Given the description of an element on the screen output the (x, y) to click on. 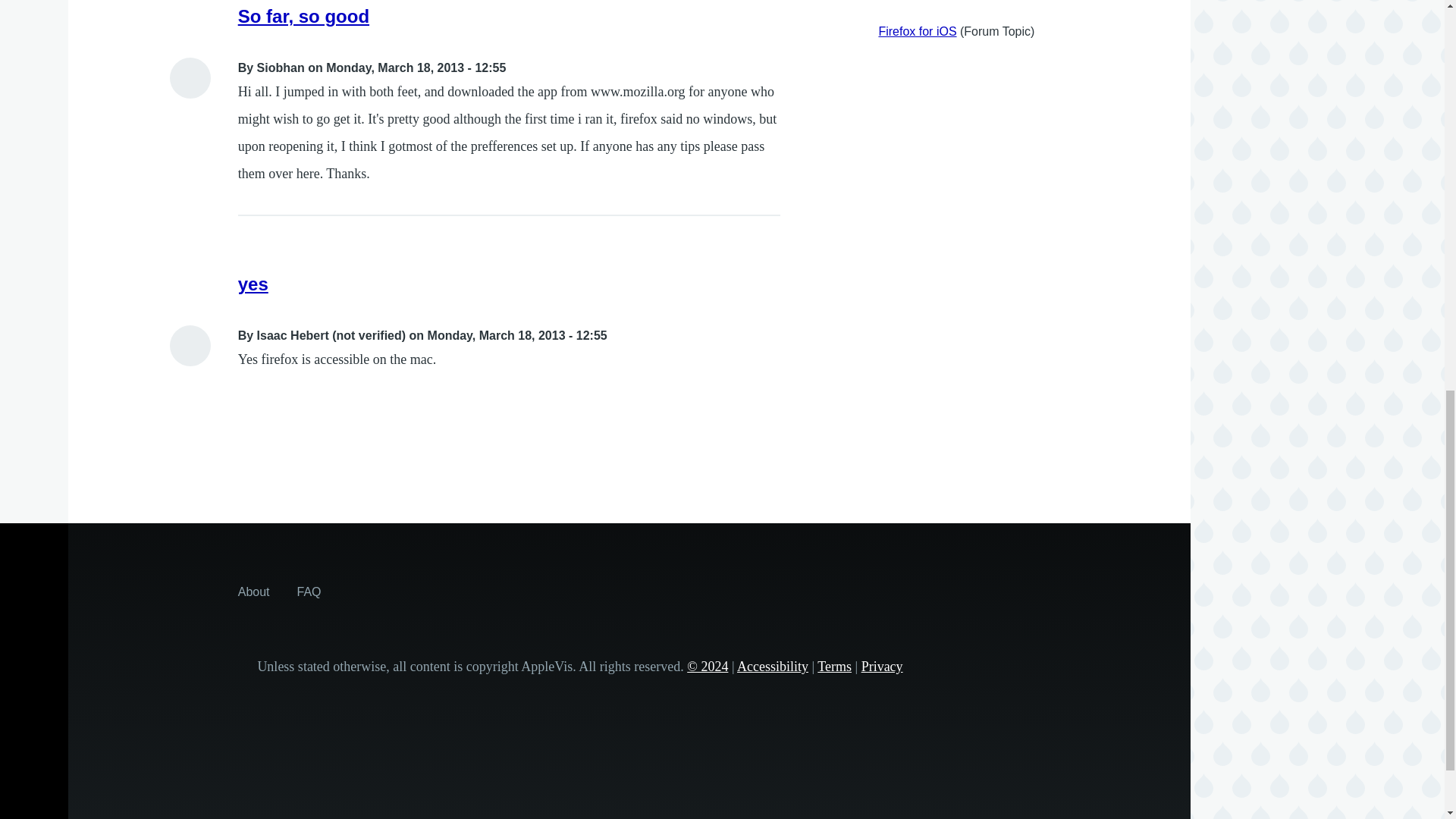
yes (252, 283)
Privacy (881, 666)
So far, so good (303, 15)
Accessibility (772, 666)
Terms (833, 666)
About (253, 591)
About (253, 591)
Firefox for iOS (916, 31)
